Given the description of an element on the screen output the (x, y) to click on. 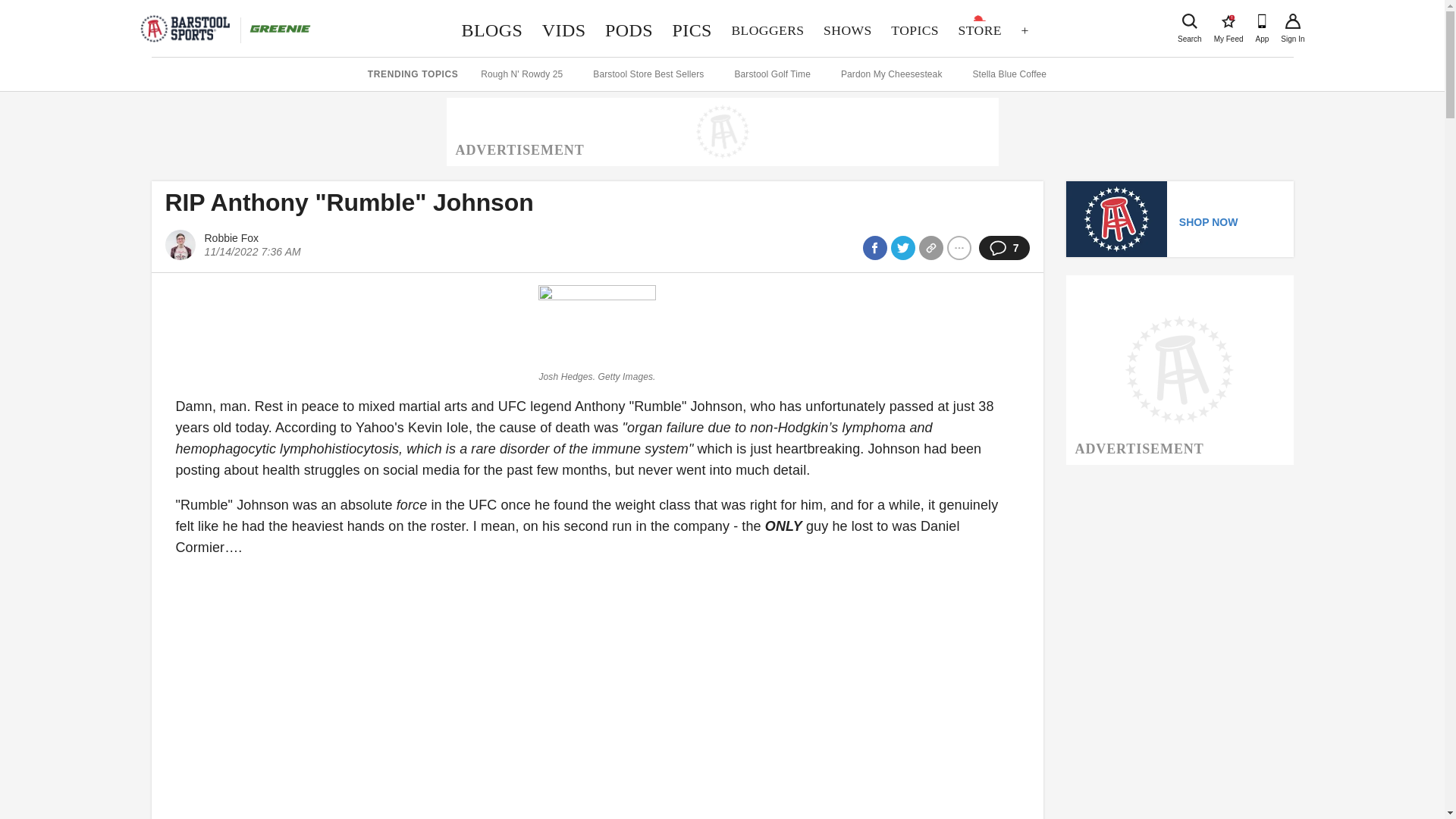
TOPICS (913, 30)
SHOWS (846, 30)
Sign Up (1292, 20)
BLOGGERS (767, 30)
PICS (692, 30)
BLOGS (1228, 20)
STORE (491, 30)
VIDS (980, 30)
Search (563, 30)
